Given the description of an element on the screen output the (x, y) to click on. 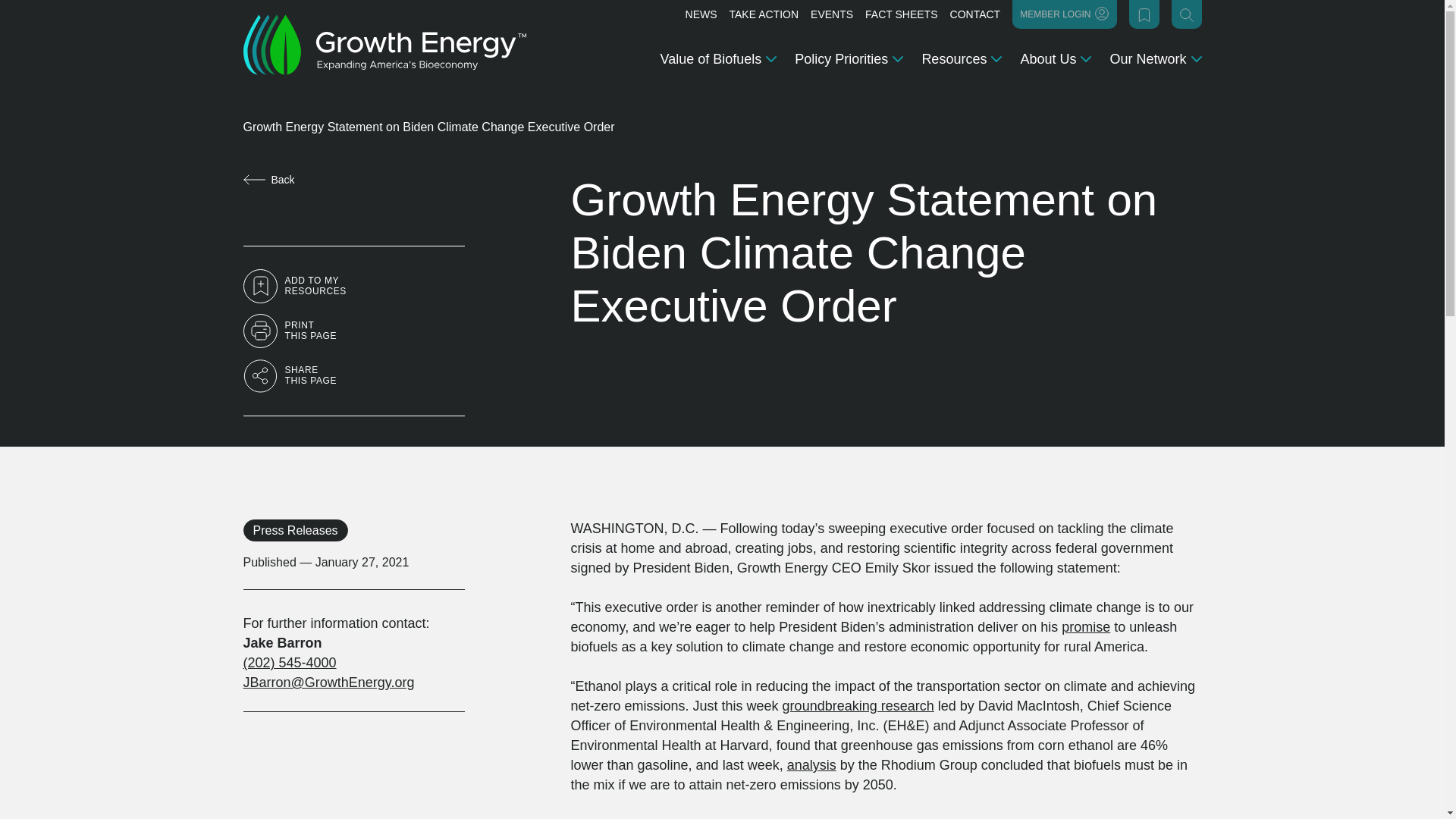
MEMBER LOGIN (1063, 14)
FACT SHEETS (900, 14)
Growth Energy (384, 44)
NEWS (701, 14)
EVENTS (831, 14)
Policy Priorities (848, 58)
Value of Biofuels (719, 58)
CONTACT (975, 14)
Resources (961, 58)
TAKE ACTION (764, 14)
